Given the description of an element on the screen output the (x, y) to click on. 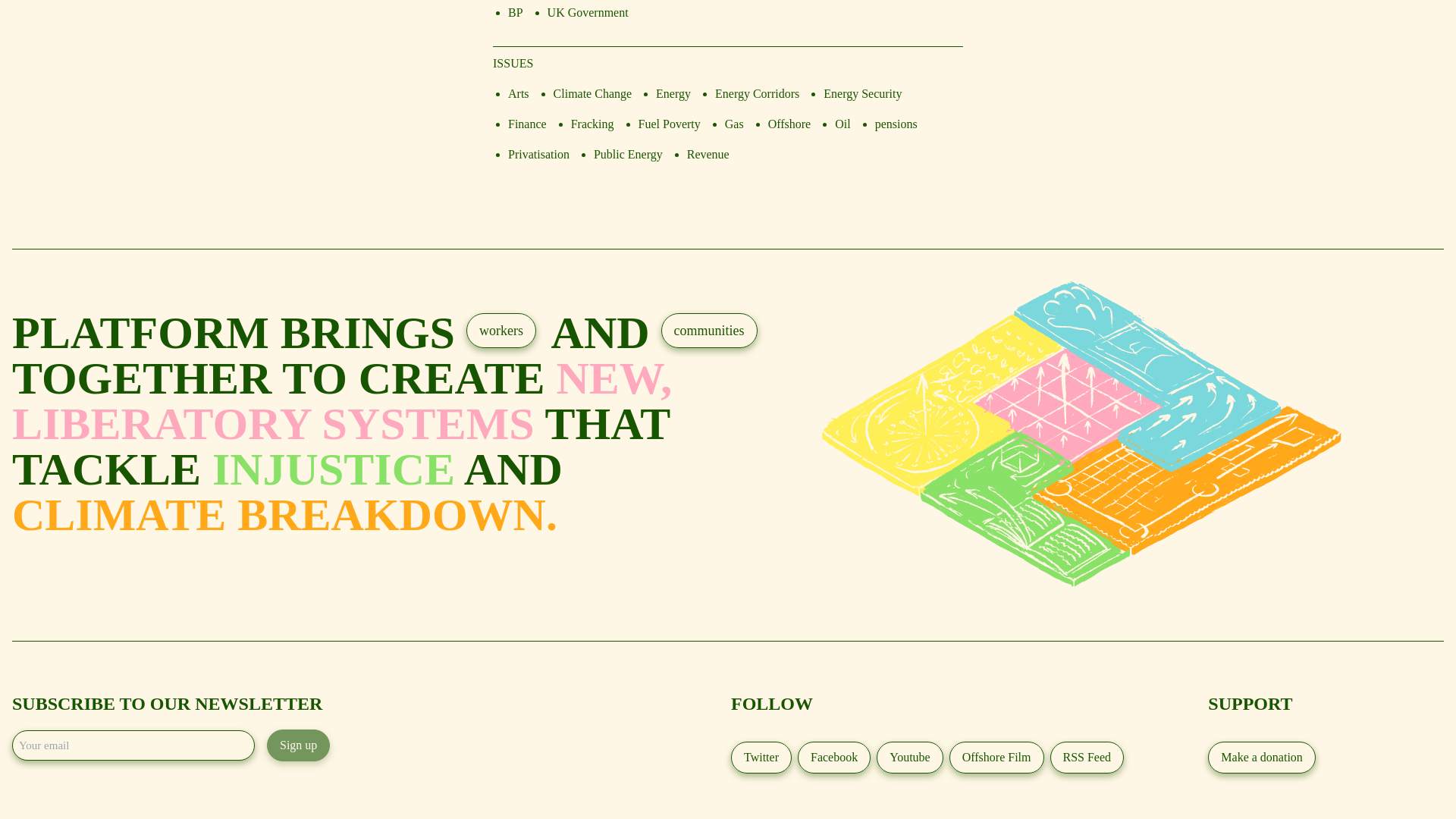
Energy (673, 92)
Finance (527, 123)
Arts (518, 92)
Energy Corridors (756, 92)
Fracking (592, 123)
Fuel Poverty (669, 123)
UK Government (587, 11)
Climate Change (592, 92)
Sign up (298, 745)
BP (515, 11)
Energy Security (862, 92)
